Given the description of an element on the screen output the (x, y) to click on. 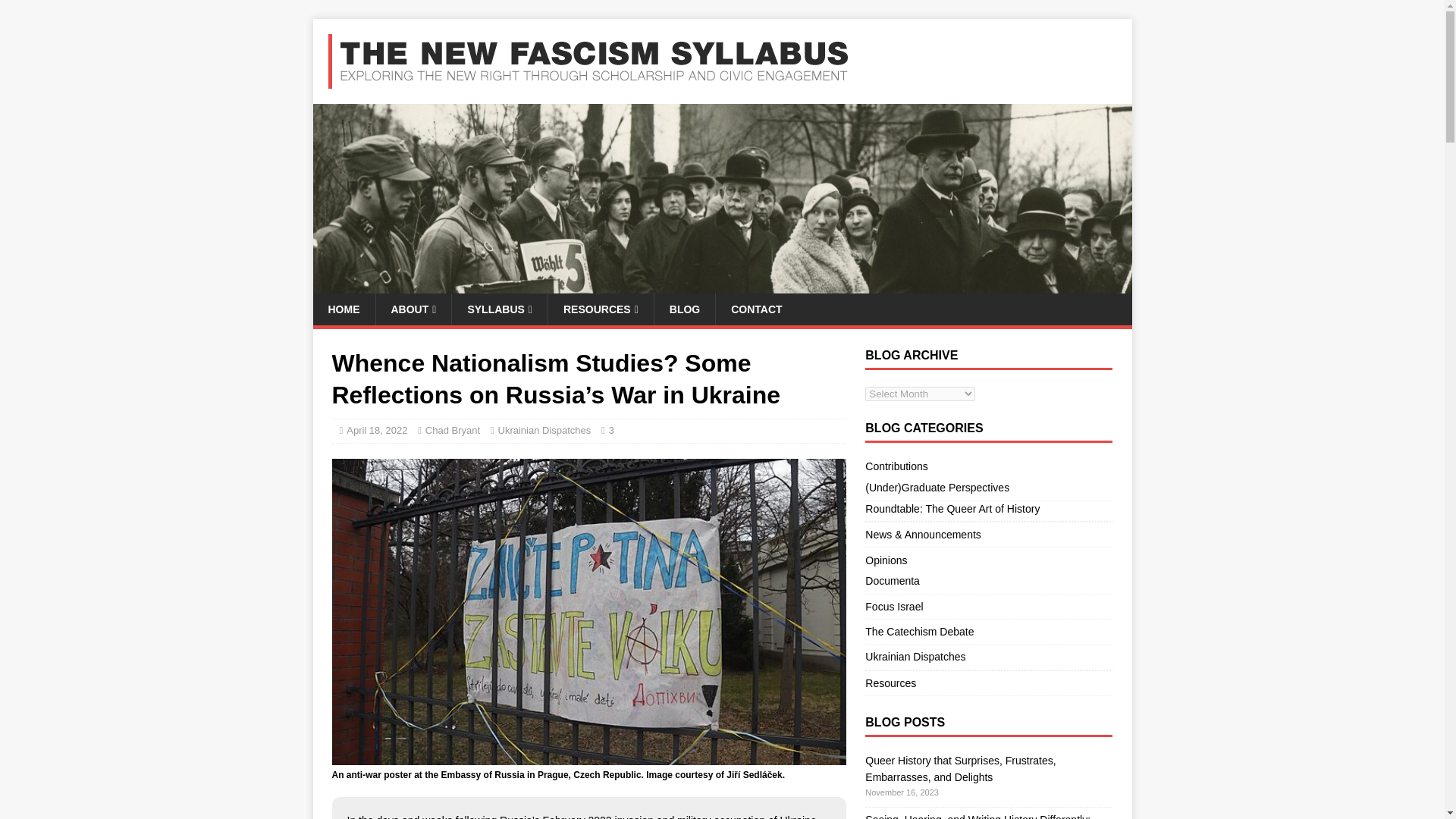
Chad Bryant (452, 430)
SYLLABUS (499, 309)
ABOUT (412, 309)
CONTACT (755, 309)
HOME (343, 309)
The New Fascism Syllabus (722, 284)
Ukrainian Dispatches (544, 430)
BLOG (683, 309)
RESOURCES (600, 309)
April 18, 2022 (376, 430)
